Given the description of an element on the screen output the (x, y) to click on. 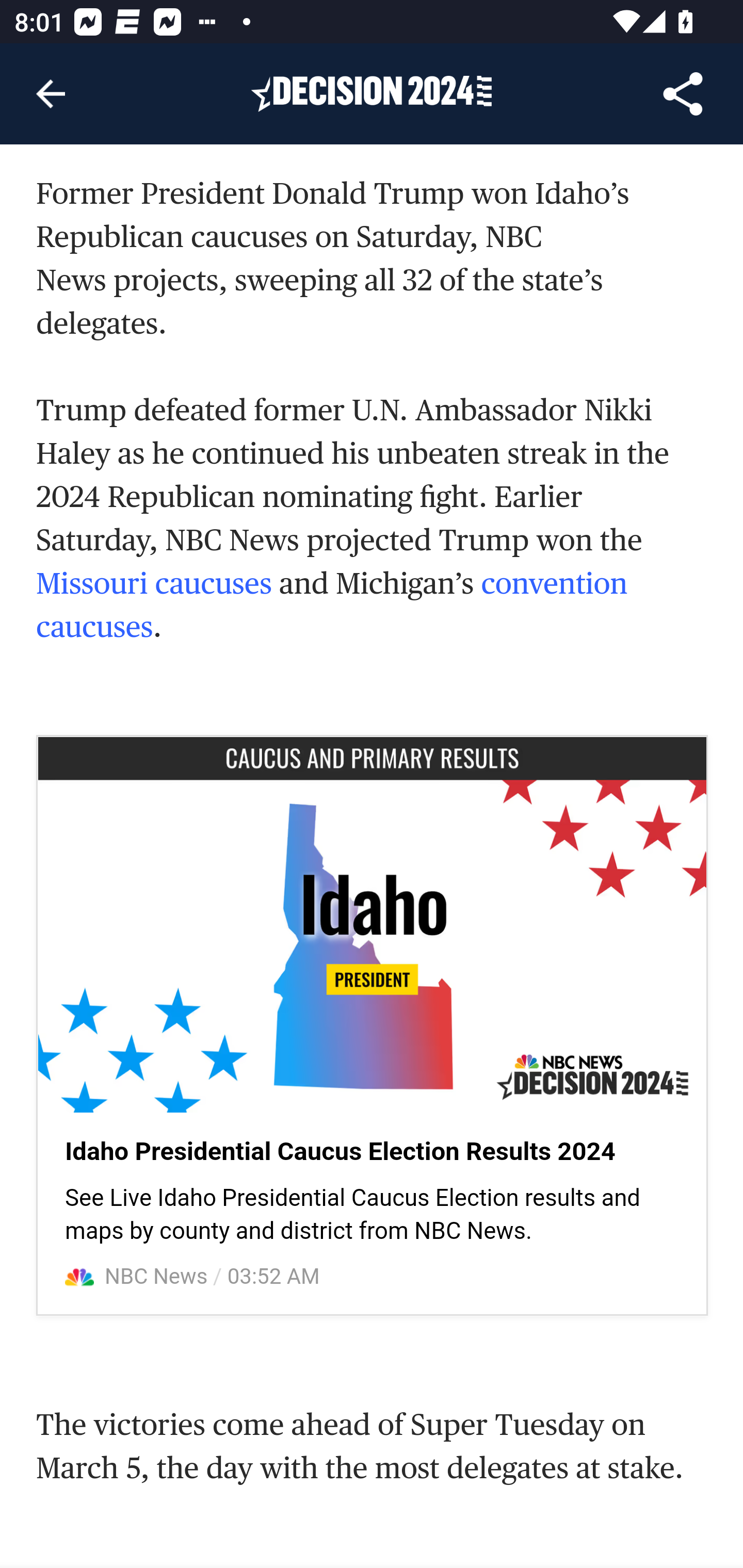
Navigate up (50, 93)
Share Article, button (683, 94)
Header, Decision 2024 (371, 93)
Missouri caucuses (154, 585)
convention caucuses (332, 606)
Idaho Presidential Caucus Election Results 2024 (340, 1152)
NBC News (156, 1276)
